Given the description of an element on the screen output the (x, y) to click on. 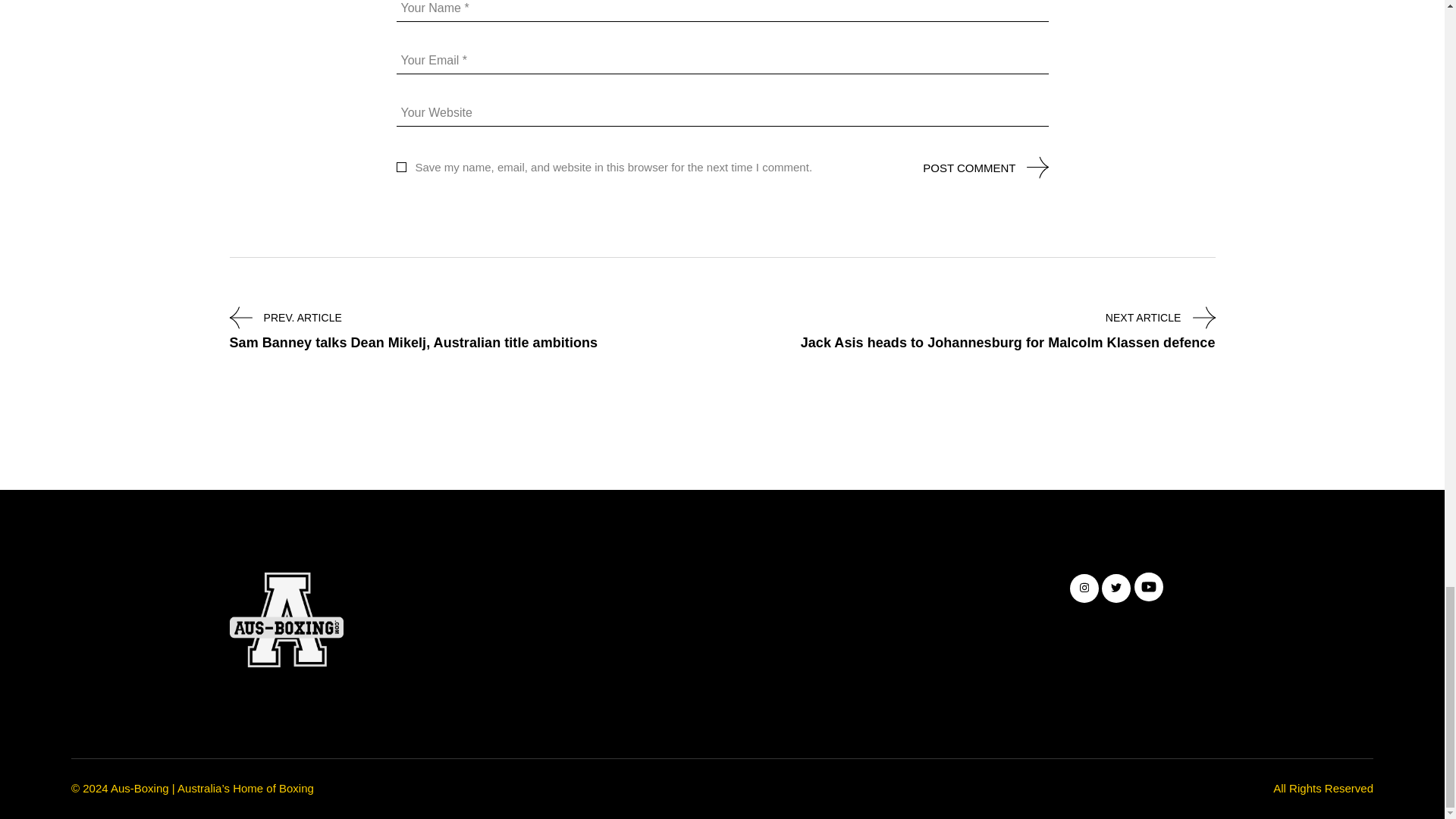
POST COMMENT (968, 167)
yes (401, 166)
